Given the description of an element on the screen output the (x, y) to click on. 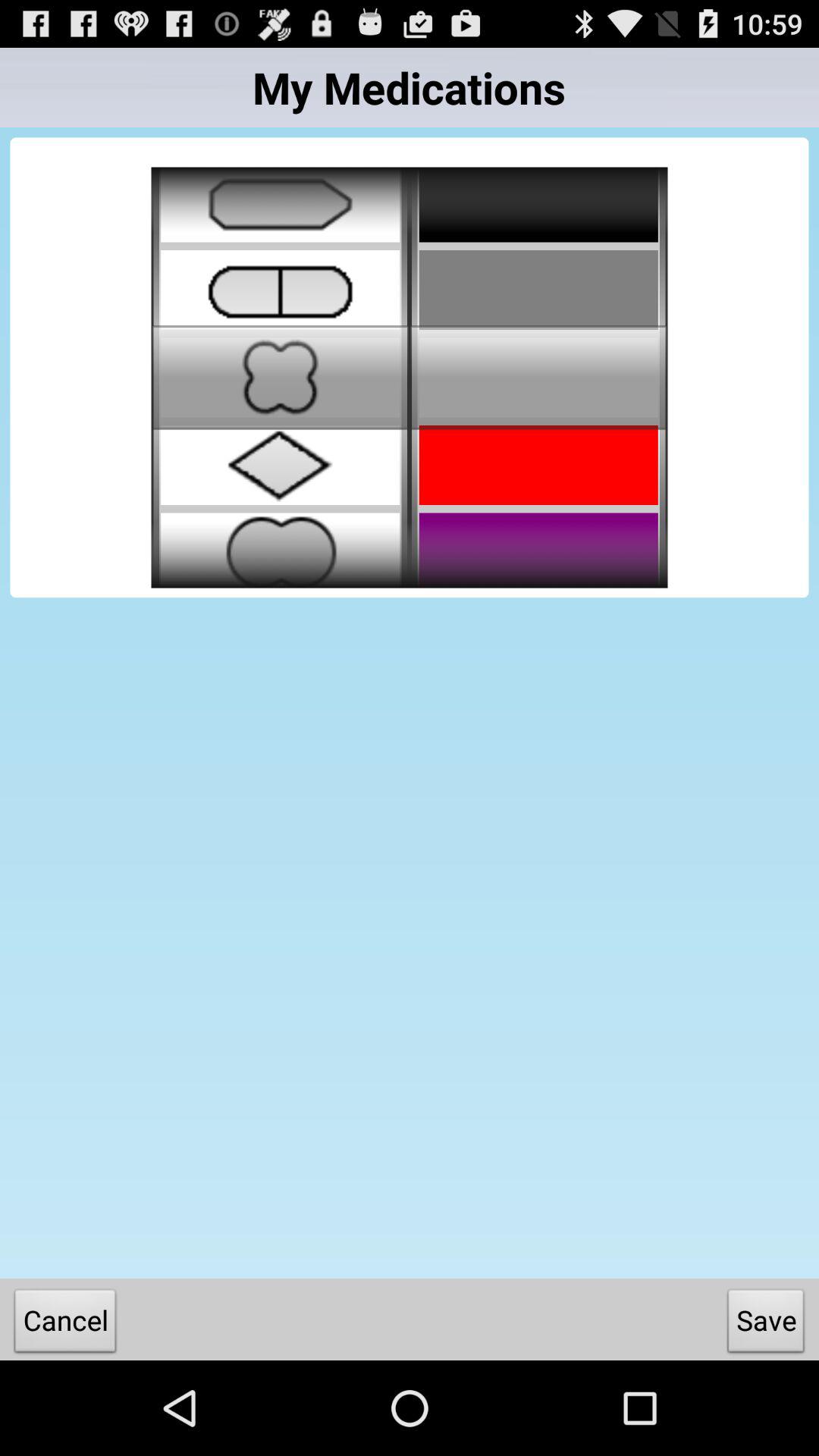
select the cancel icon (65, 1324)
